Given the description of an element on the screen output the (x, y) to click on. 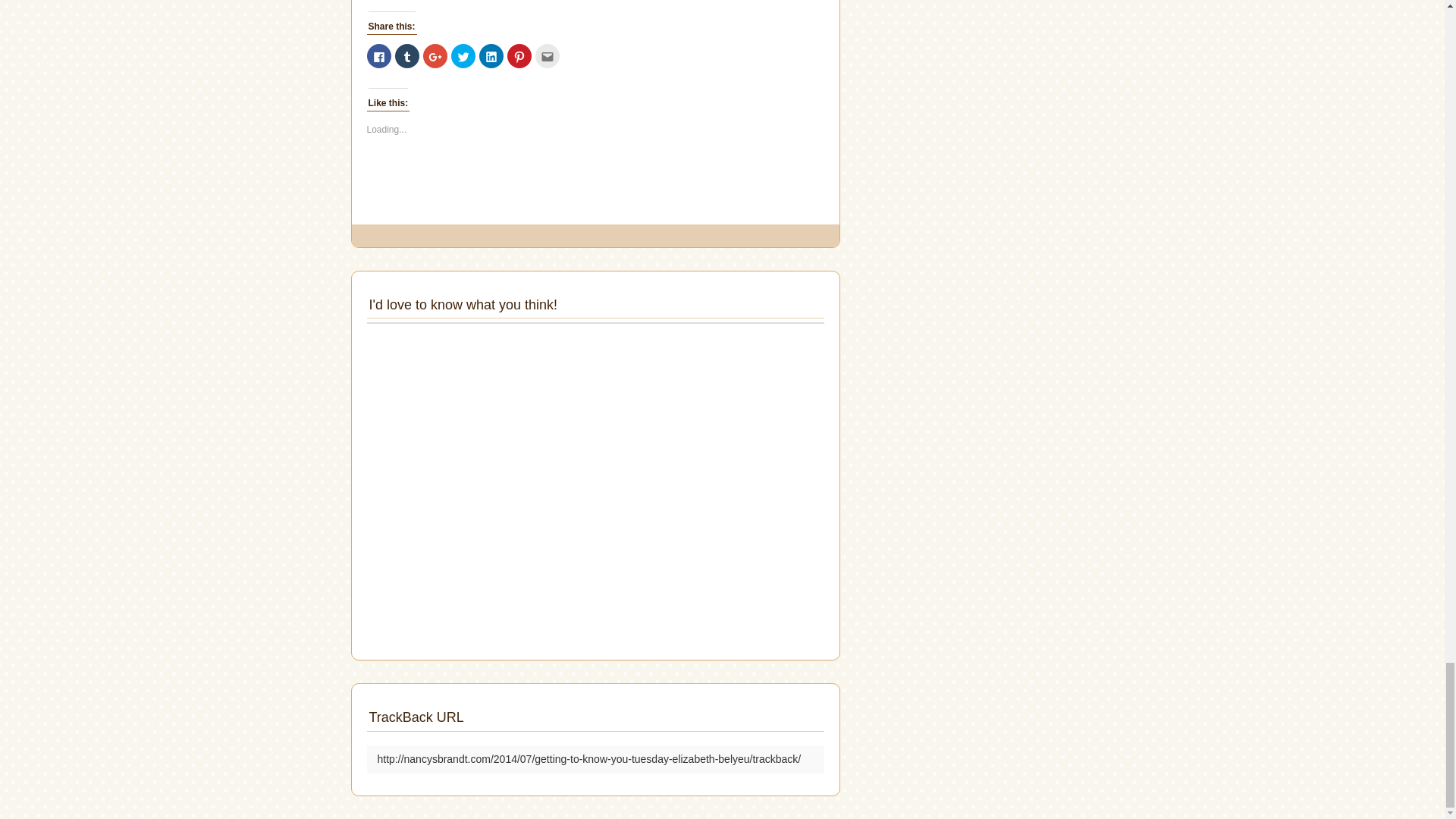
Click to share on Pinterest (518, 55)
Click to share on Twitter (461, 55)
Click to email this to a friend (547, 55)
Click to share on Facebook (378, 55)
Click to share on LinkedIn (491, 55)
Click to share on Tumblr (406, 55)
